Given the description of an element on the screen output the (x, y) to click on. 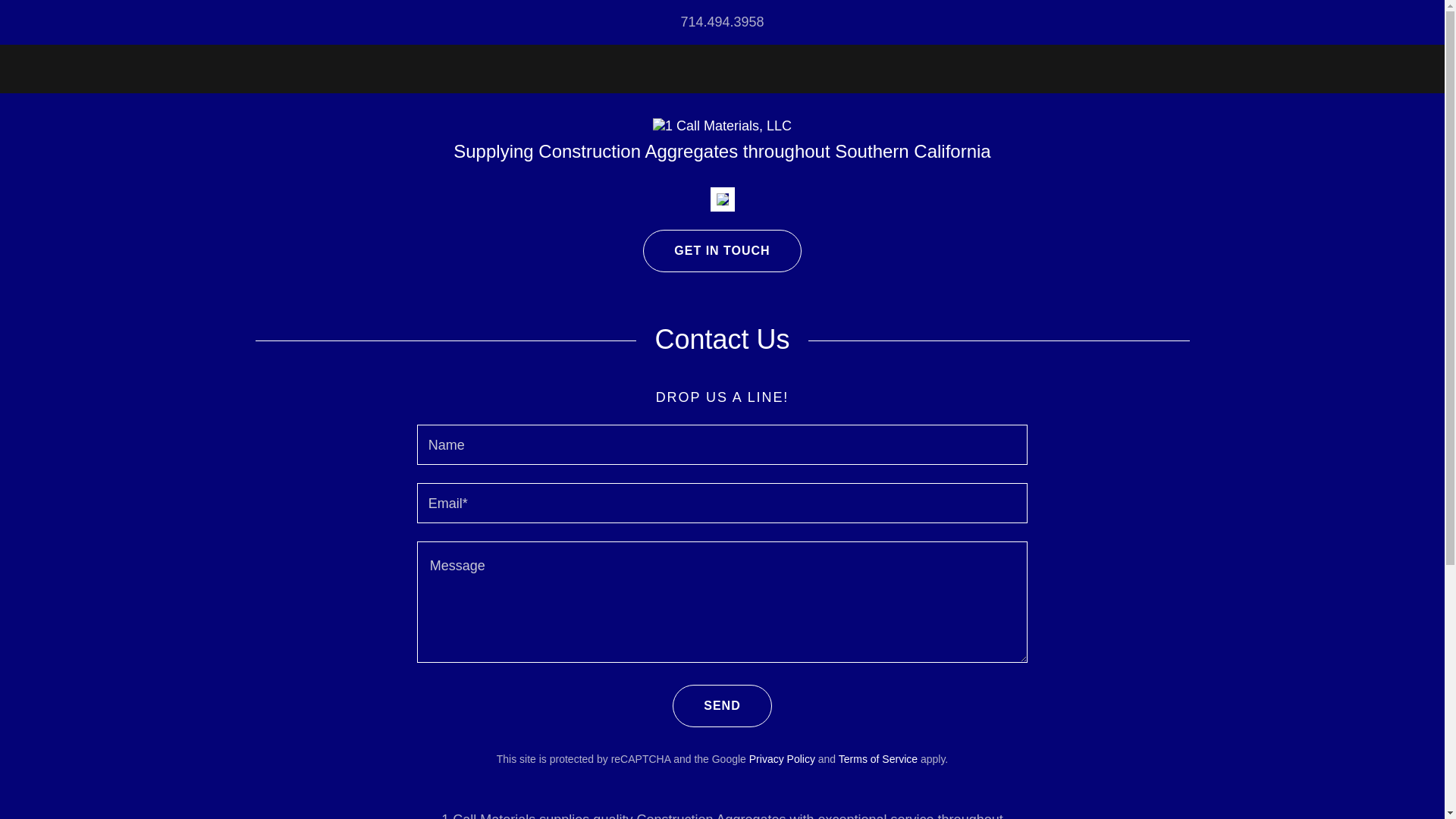
714.494.3958 Element type: text (721, 21)
Privacy Policy Element type: text (782, 759)
1 Call Materials, LLC Element type: hover (721, 124)
SEND Element type: text (721, 705)
Terms of Service Element type: text (877, 759)
GET IN TOUCH Element type: text (721, 250)
